Given the description of an element on the screen output the (x, y) to click on. 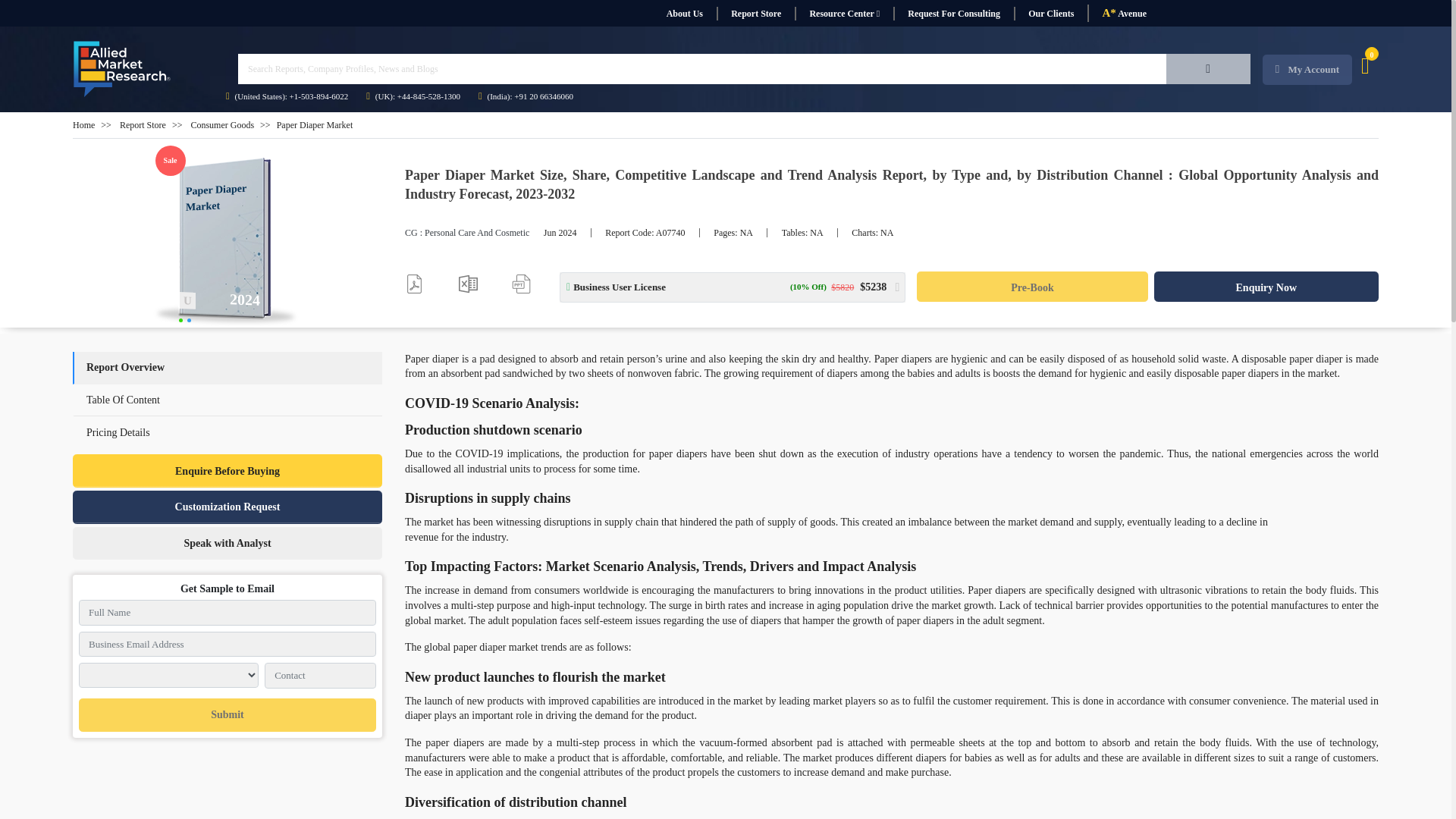
Home (83, 124)
Our Clients (1050, 13)
Pre-Book (1032, 286)
Request For Consulting (953, 13)
Enquire Before Buying (226, 470)
Enquiry Now (1266, 286)
Customization Request (226, 507)
Speak with Analyst (226, 543)
Submit (226, 715)
Data Pack Excel (467, 283)
CG : Personal Care And Cosmetic (466, 232)
Allied Market Research (121, 68)
About Us (684, 13)
Allied Market Research (227, 242)
Resource Center (843, 13)
